Given the description of an element on the screen output the (x, y) to click on. 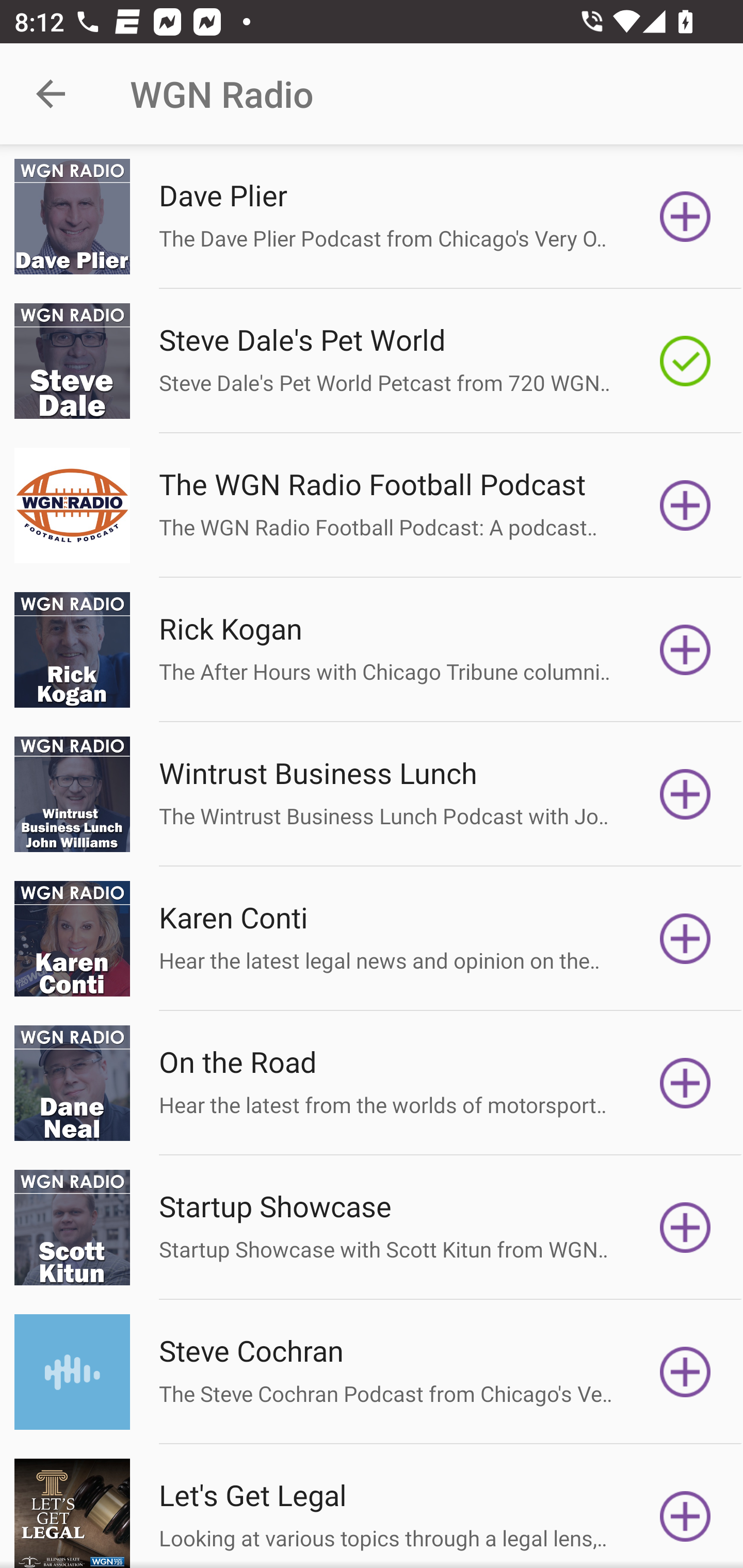
Navigate up (50, 93)
Subscribe (685, 216)
Subscribed (685, 360)
Subscribe (685, 505)
Subscribe (685, 649)
Subscribe (685, 793)
Subscribe (685, 939)
Subscribe (685, 1083)
Subscribe (685, 1227)
Subscribe (685, 1371)
Subscribe (685, 1513)
